Given the description of an element on the screen output the (x, y) to click on. 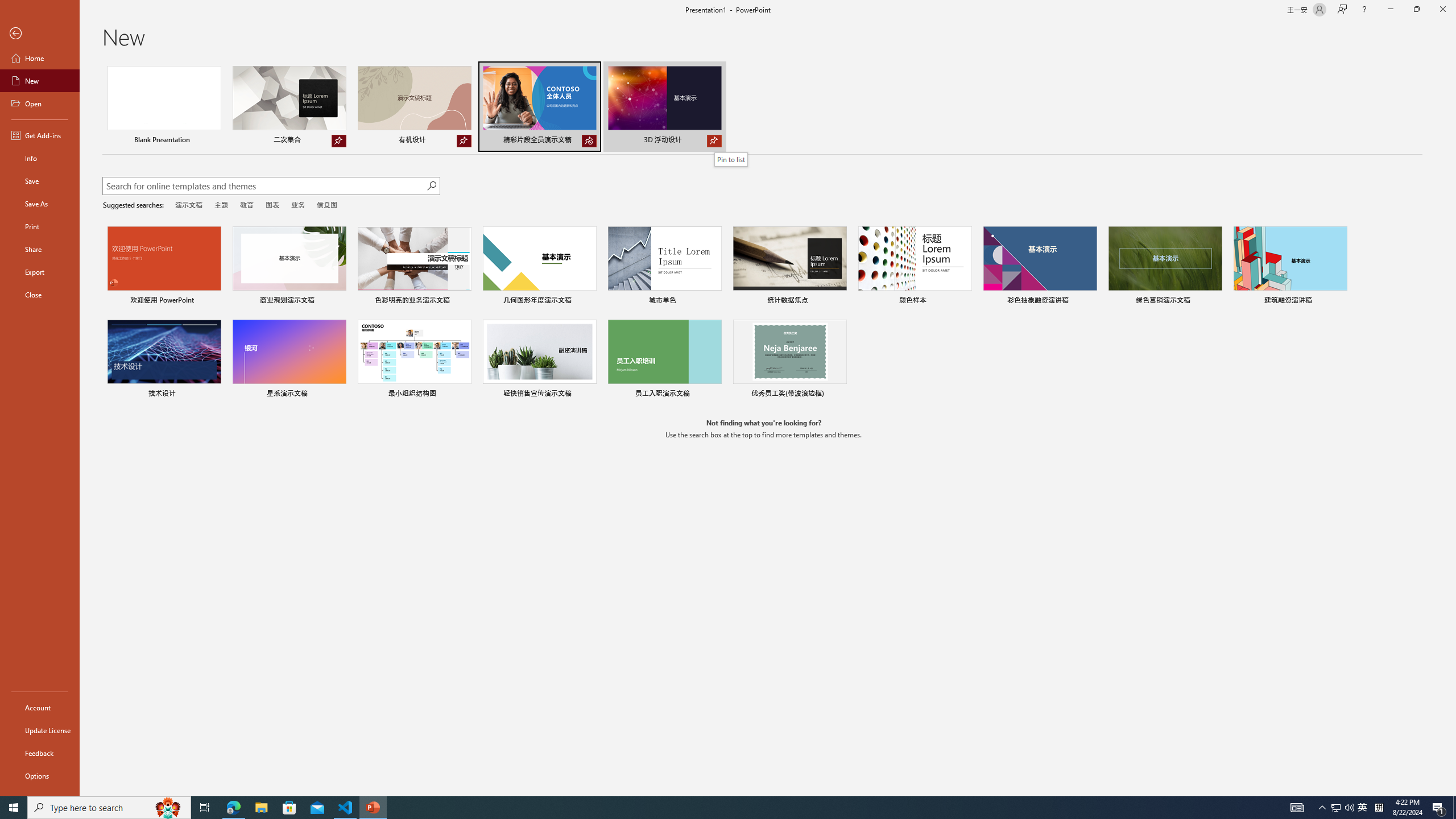
Info (40, 157)
New (40, 80)
Pin to list (731, 159)
